Given the description of an element on the screen output the (x, y) to click on. 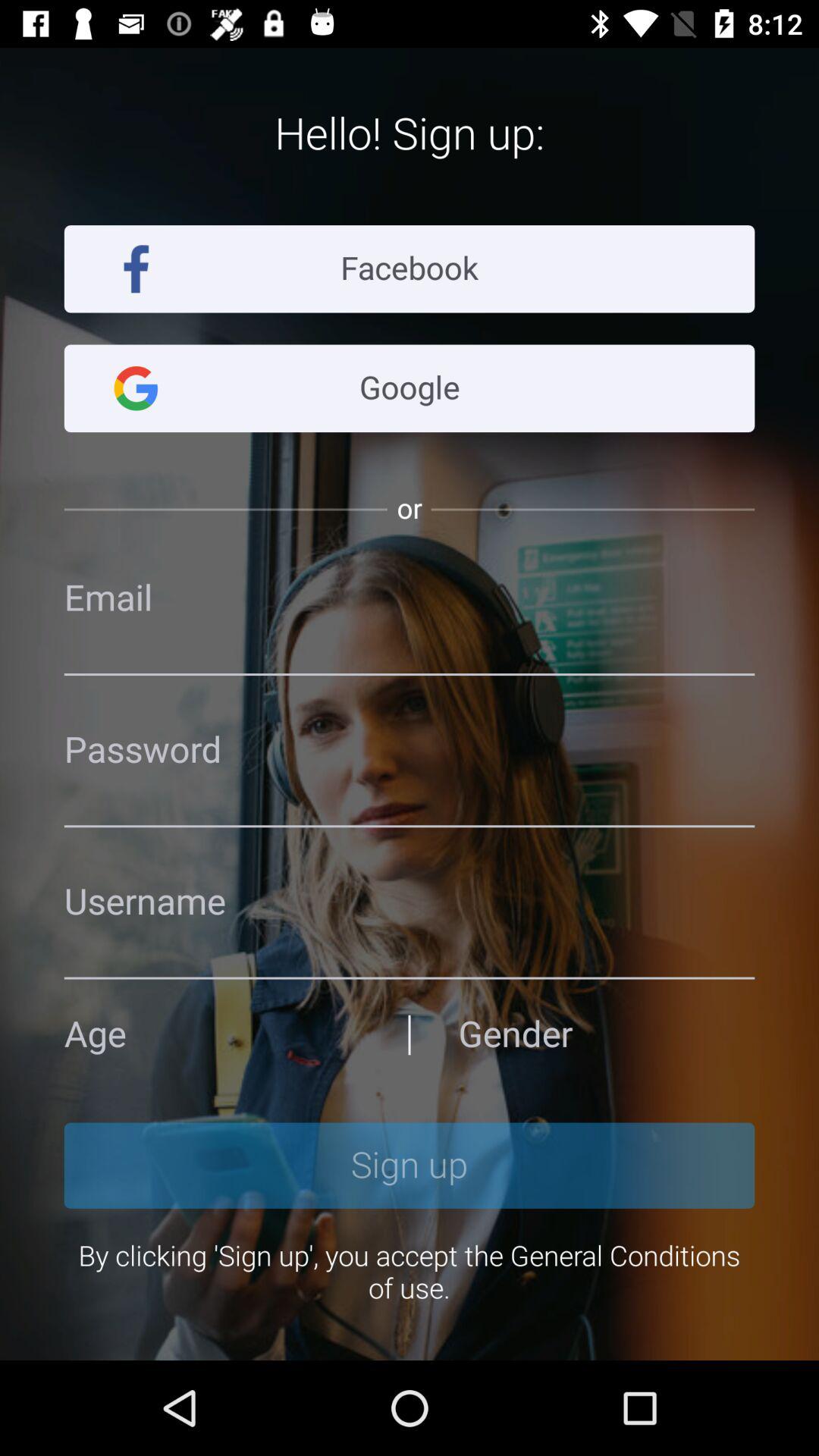
enter the a ge (212, 1034)
